Given the description of an element on the screen output the (x, y) to click on. 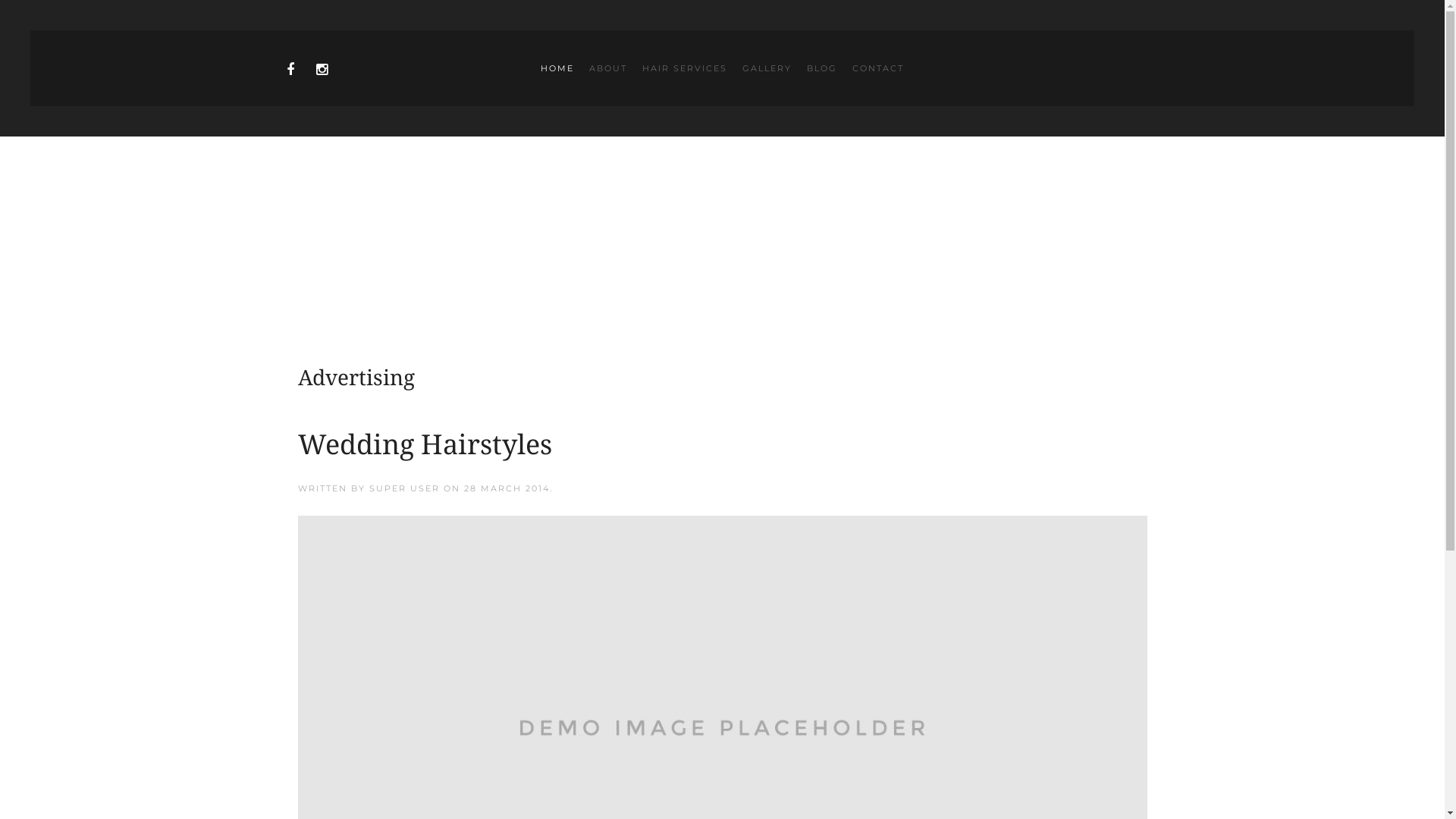
BLOG Element type: text (821, 68)
Wedding Hairstyles Element type: text (424, 443)
HOME Element type: text (557, 68)
ABOUT Element type: text (607, 68)
GALLERY Element type: text (766, 68)
CONTACT Element type: text (877, 68)
HAIR SERVICES Element type: text (684, 68)
